Given the description of an element on the screen output the (x, y) to click on. 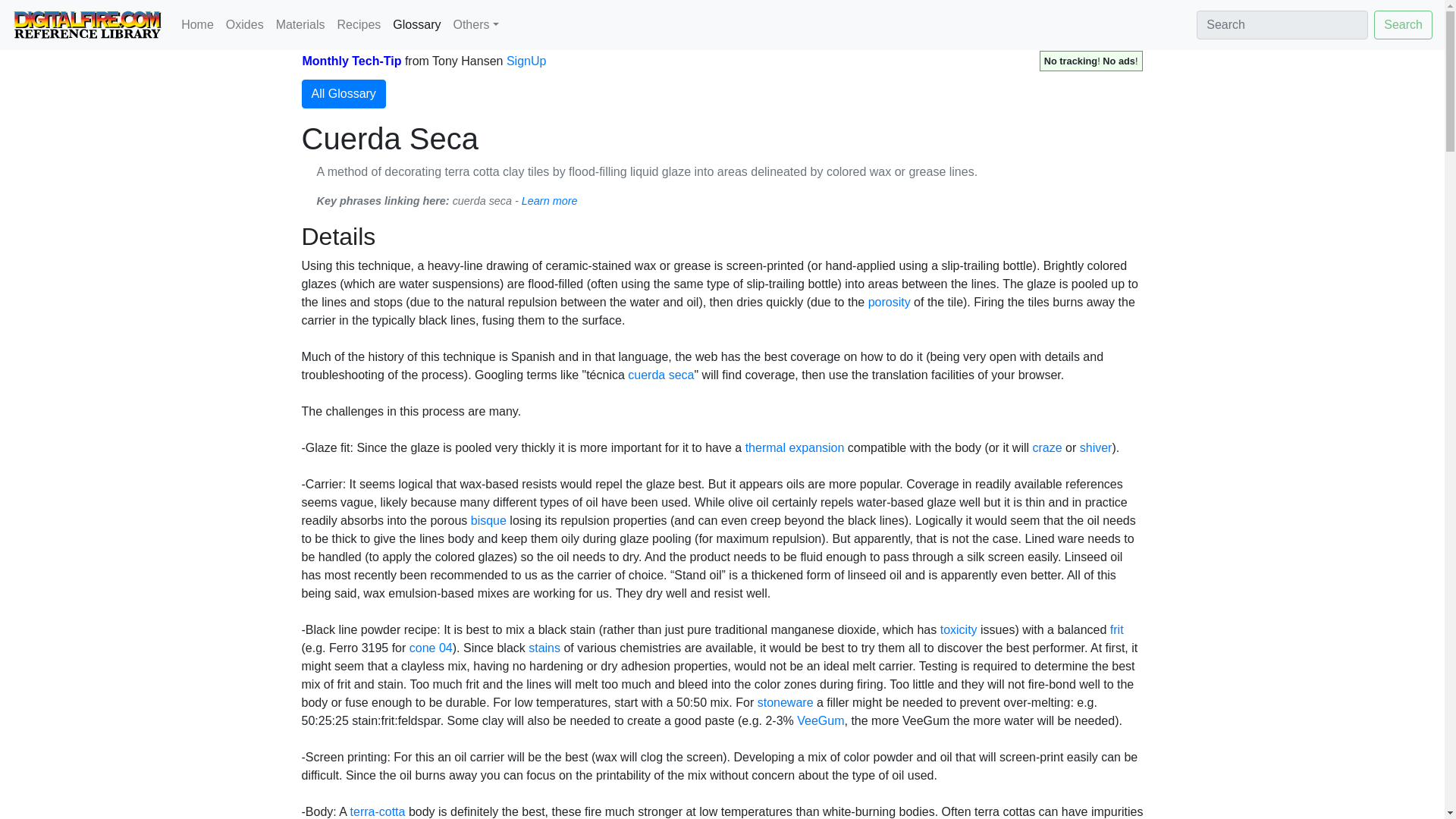
Home (196, 24)
Oxides (244, 24)
from Tony Hansen (453, 60)
Monthly Tech-Tip (351, 60)
Materials (300, 24)
SignUp (526, 60)
Others (474, 24)
All Glossary (343, 93)
Search from home to search in all areas (1282, 24)
Recipes (359, 24)
Search (1403, 24)
